Given the description of an element on the screen output the (x, y) to click on. 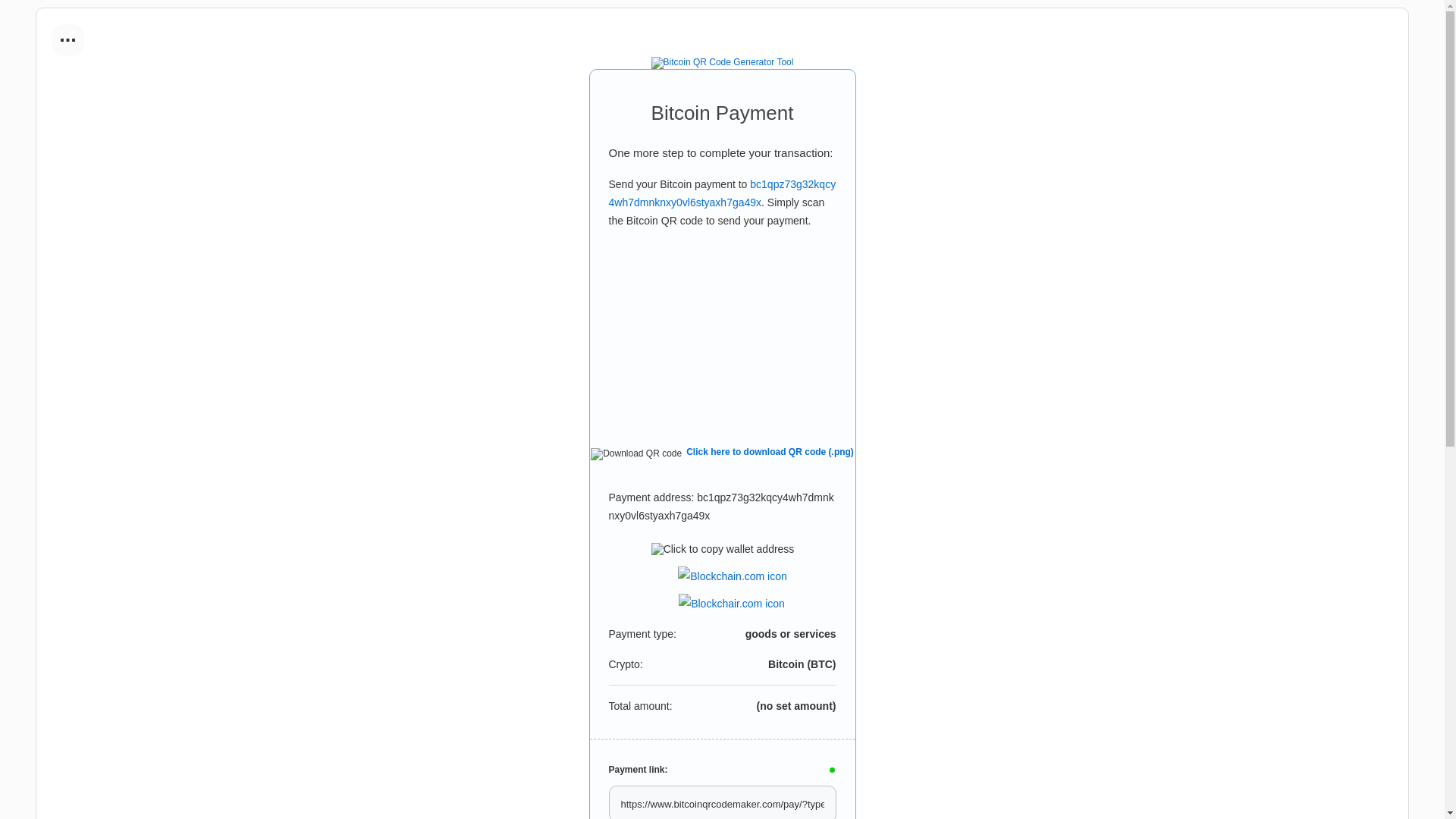
Bitcoin QR Code Generator Tool (721, 62)
View on blockchain.com explorer (732, 572)
bitcoin:bc1qpz73g32kqcy4wh7dmnknxy0vl6styaxh7ga49x (721, 193)
bc1qpz73g32kqcy4wh7dmnknxy0vl6styaxh7ga49x (721, 193)
View on blockchair.com explorer (731, 599)
